Given the description of an element on the screen output the (x, y) to click on. 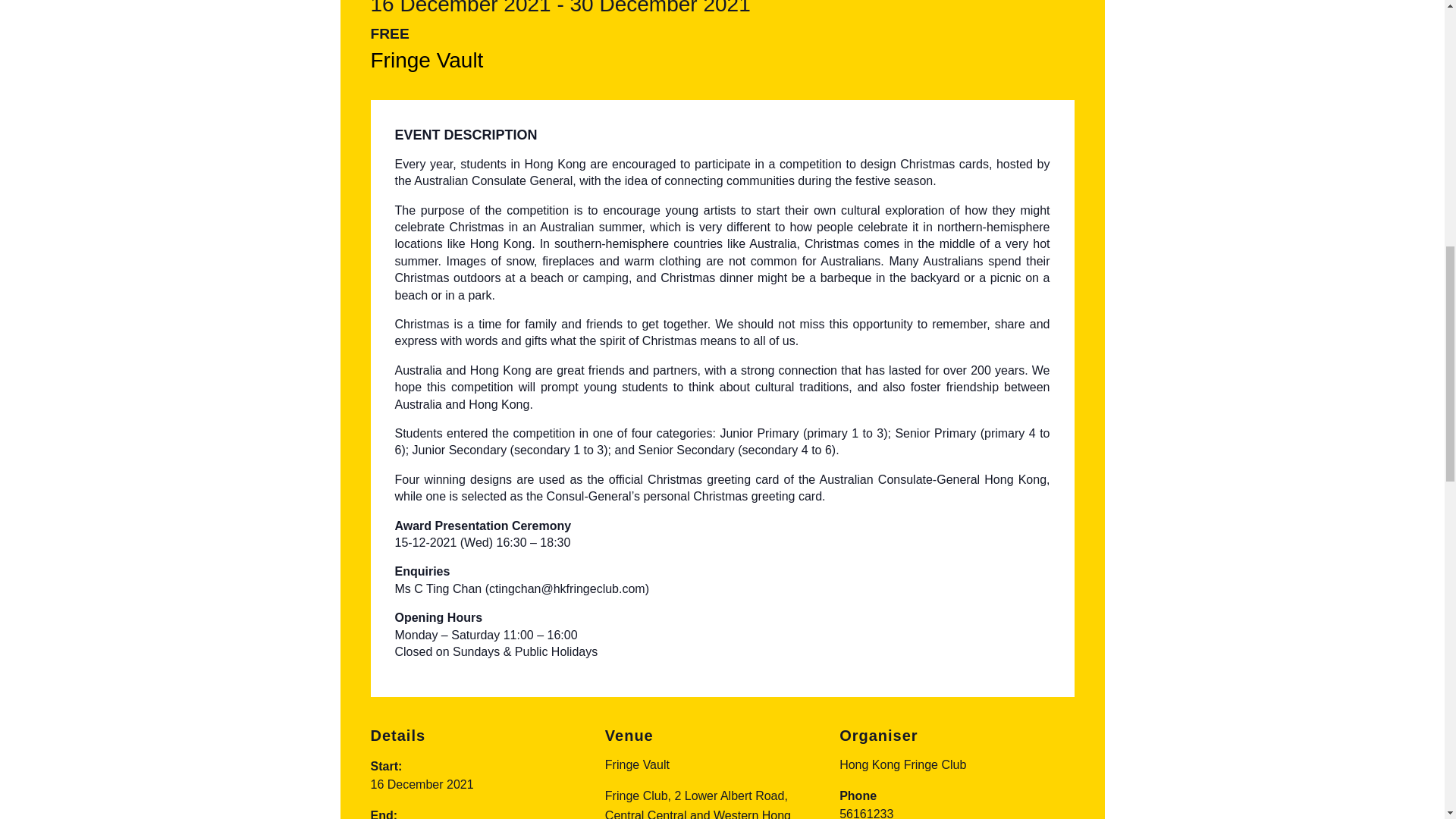
2021-12-16 (421, 784)
Fringe Vault (426, 60)
Central and Western (702, 814)
Fringe Vault (426, 60)
Fringe Vault (637, 764)
Hong Kong Fringe Club (903, 764)
Hong Kong Fringe Club (903, 764)
